Given the description of an element on the screen output the (x, y) to click on. 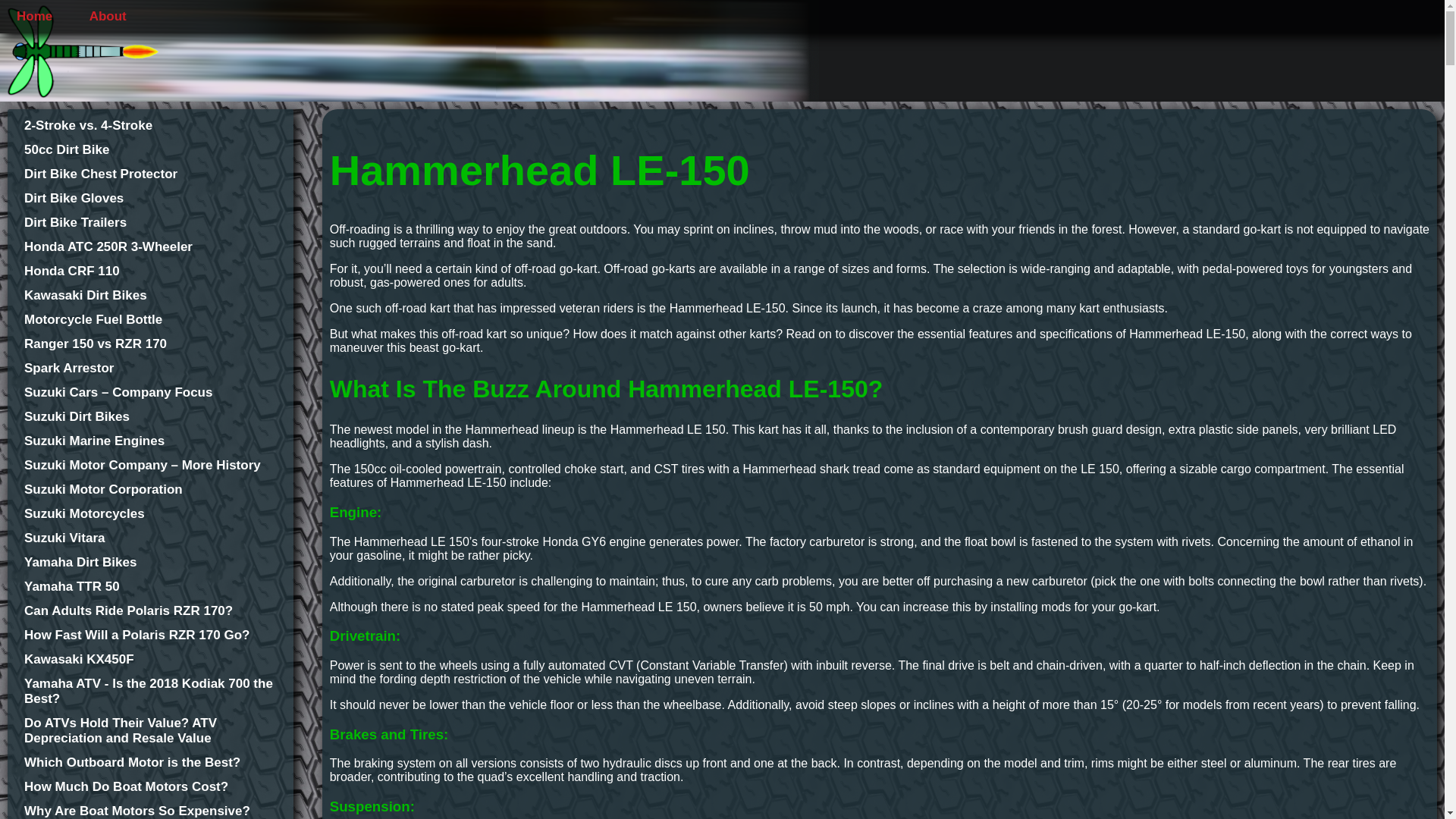
Dirt Bike Trailers (149, 222)
Suzuki Dirt Bikes (149, 417)
Spark Arrestor (149, 368)
Yamaha ATV - Is the 2018 Kodiak 700 the Best? (149, 691)
Kawasaki Dirt Bikes (149, 295)
How Much Do Boat Motors Cost? (149, 786)
Do ATVs Hold Their Value? ATV Depreciation and Resale Value (149, 730)
Why Are Boat Motors So Expensive? (149, 811)
Dirt Bike Chest Protector (149, 174)
Honda CRF 110 (149, 271)
Yamaha TTR 50 (149, 586)
Ranger 150 vs RZR 170 (149, 344)
Suzuki Marine Engines (149, 441)
Dirt Bike Gloves (149, 198)
Yamaha Dirt Bikes (149, 562)
